Given the description of an element on the screen output the (x, y) to click on. 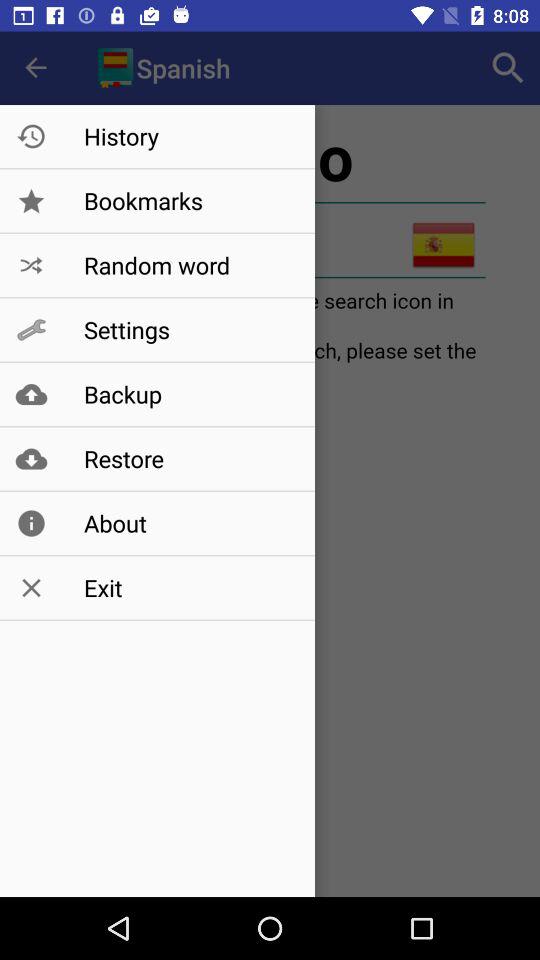
tap the exit item (188, 587)
